Given the description of an element on the screen output the (x, y) to click on. 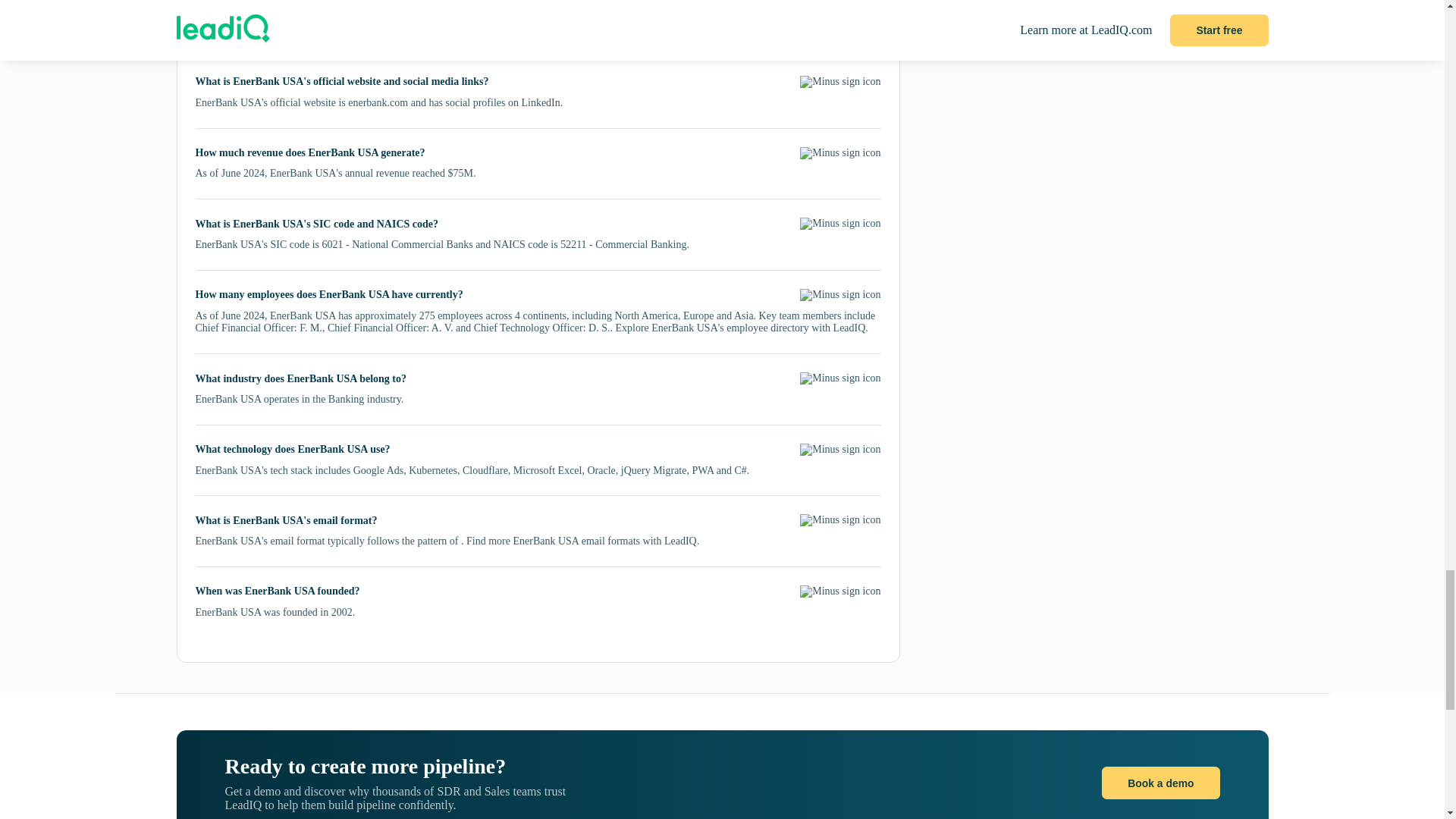
LinkedIn (540, 102)
Find more EnerBank USA email formats (552, 541)
enerbank.com (377, 102)
EnerBank USA's employee directory (729, 327)
